Given the description of an element on the screen output the (x, y) to click on. 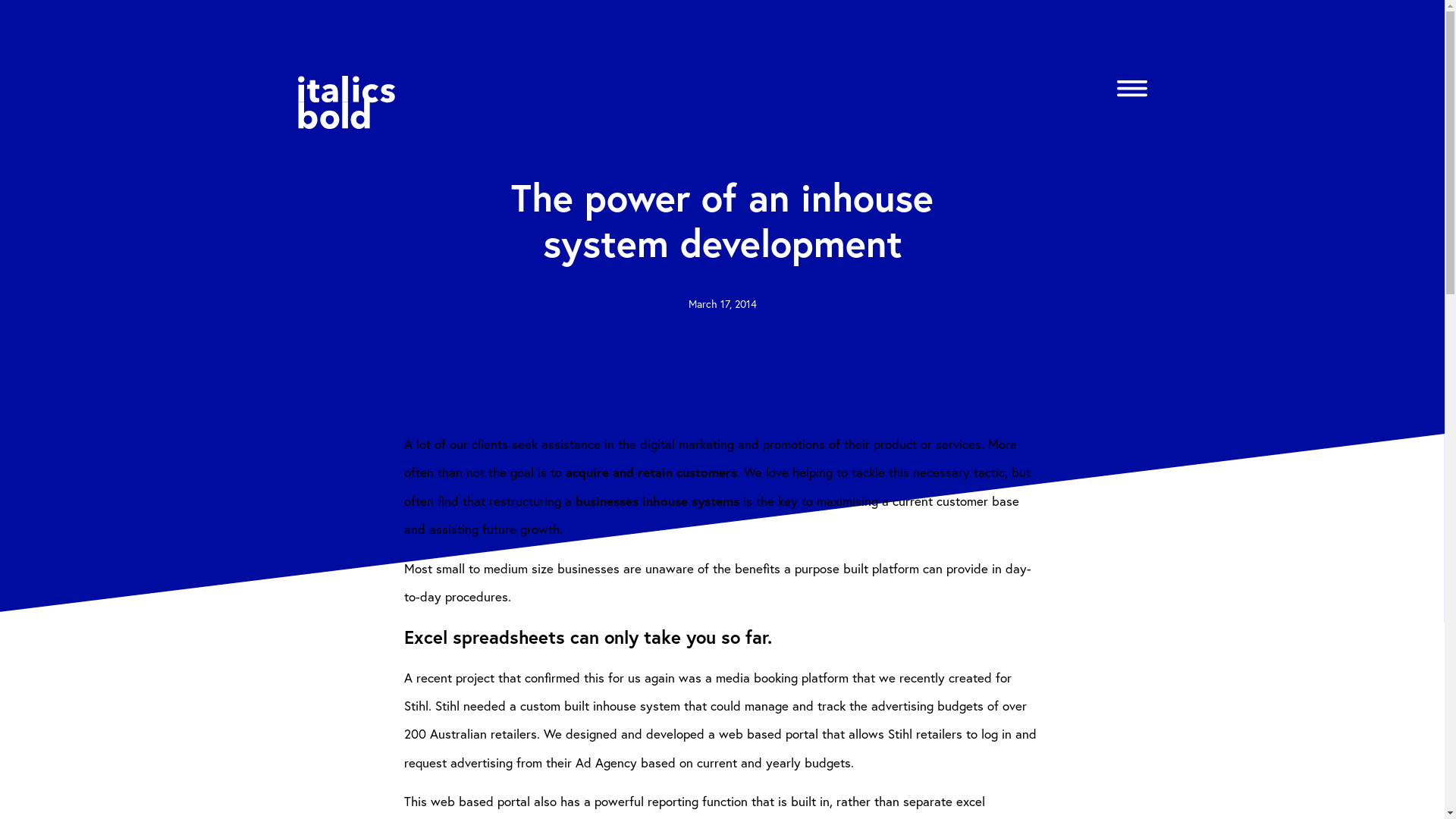
March 17, 2014 Element type: text (722, 303)
